Given the description of an element on the screen output the (x, y) to click on. 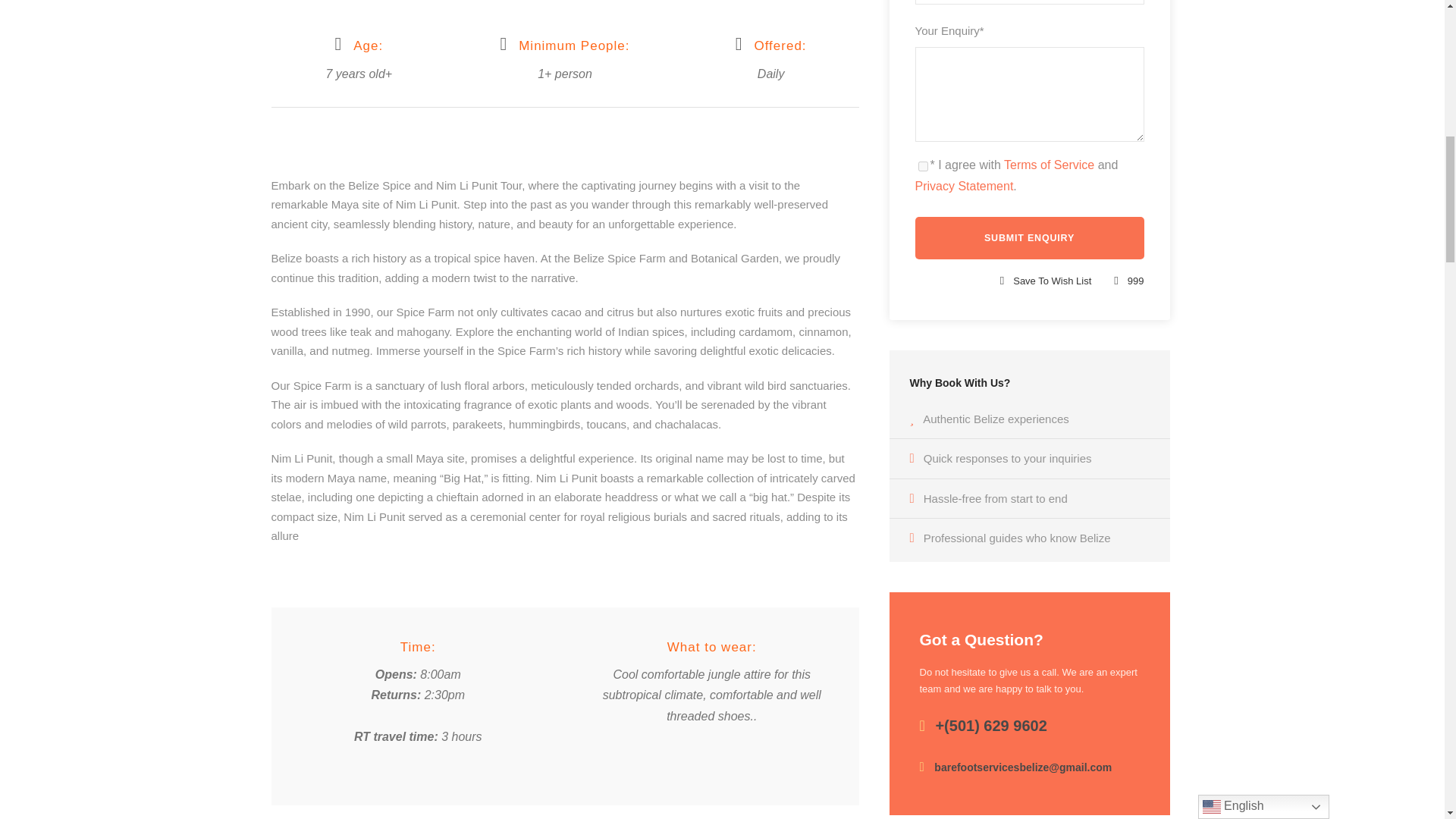
Submit Enquiry (1028, 238)
Terms of Service (1049, 164)
on (922, 166)
